Given the description of an element on the screen output the (x, y) to click on. 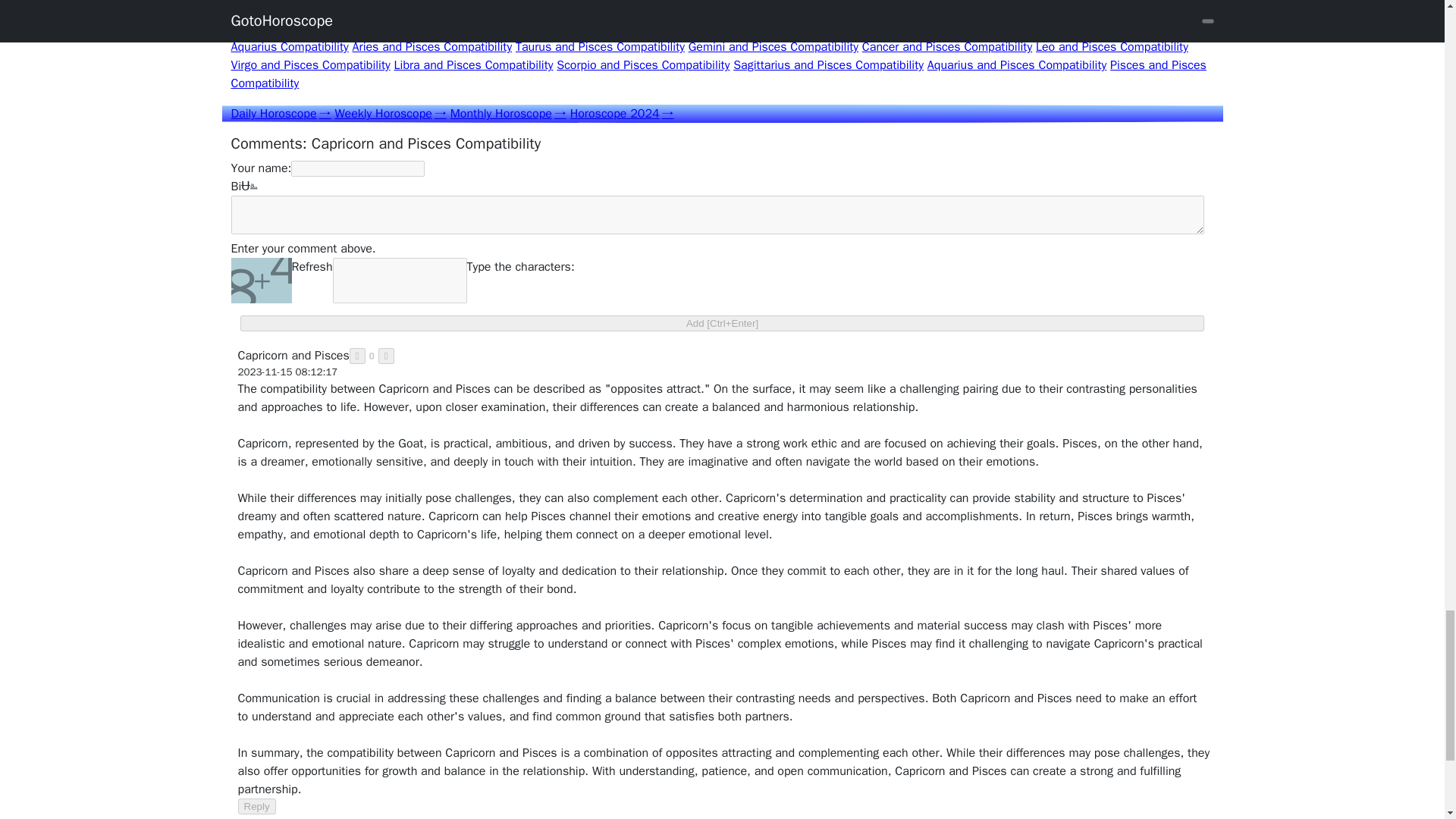
Libra and Capricorn Compatibility (443, 28)
Pisces and Pisces Compatibility (717, 73)
Leo and Capricorn Compatibility (1060, 10)
Sagittarius and Pisces Compatibility (828, 64)
Daily Horoscope for Today and Tomorrow (280, 113)
Gemini and Capricorn Compatibility (691, 10)
Reply (257, 806)
Gemini and Pisces Compatibility (773, 46)
Taurus and Pisces Compatibility (599, 46)
Cancer and Pisces Compatibility (946, 46)
Monthly Horoscope (507, 113)
Cancer and Capricorn Compatibility (879, 10)
Aries and Pisces Compatibility (432, 46)
Capricorn and Aquarius Compatibility (720, 37)
Virgo and Capricorn Compatibility (713, 19)
